Given the description of an element on the screen output the (x, y) to click on. 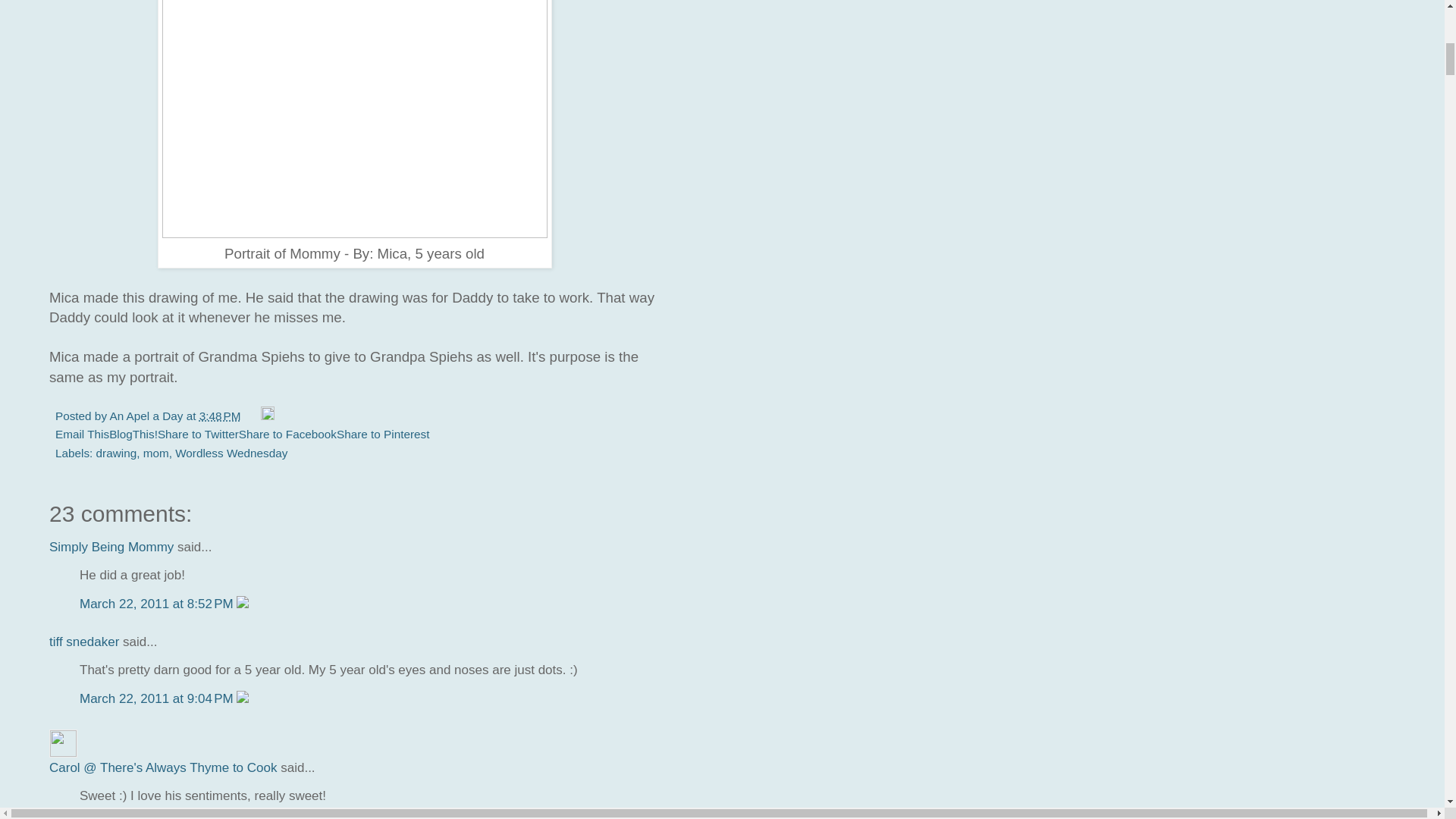
Edit Post (267, 415)
Email This (82, 433)
comment permalink (157, 698)
An Apel a Day (147, 415)
Share to Twitter (197, 433)
Share to Pinterest (382, 433)
mom (155, 452)
Share to Facebook (287, 433)
Wordless Wednesday (230, 452)
Share to Twitter (197, 433)
comment permalink (157, 603)
Share to Facebook (287, 433)
tiff snedaker (84, 641)
Simply Being Mommy (111, 546)
